Given the description of an element on the screen output the (x, y) to click on. 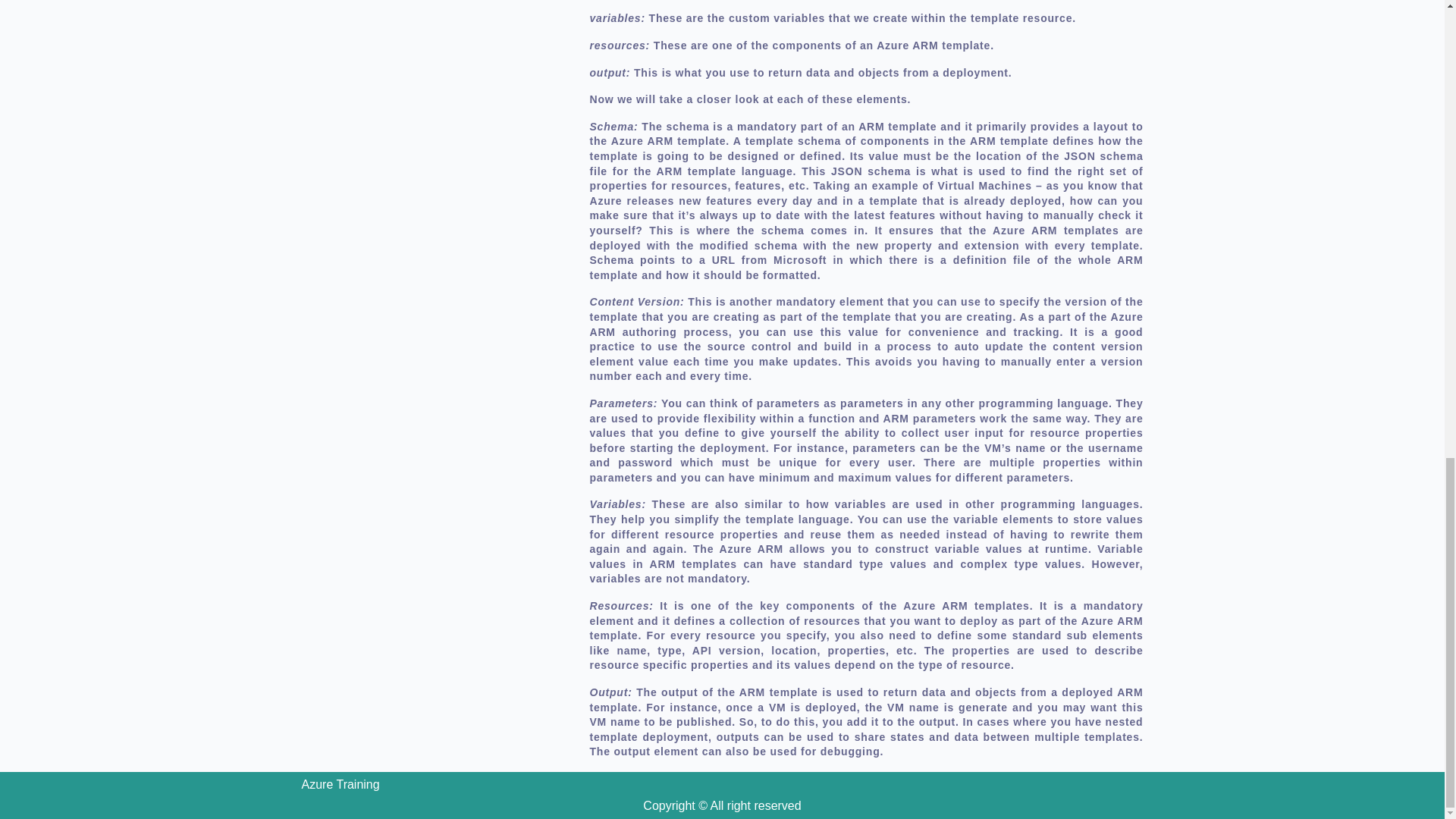
Azure Training (340, 784)
